Given the description of an element on the screen output the (x, y) to click on. 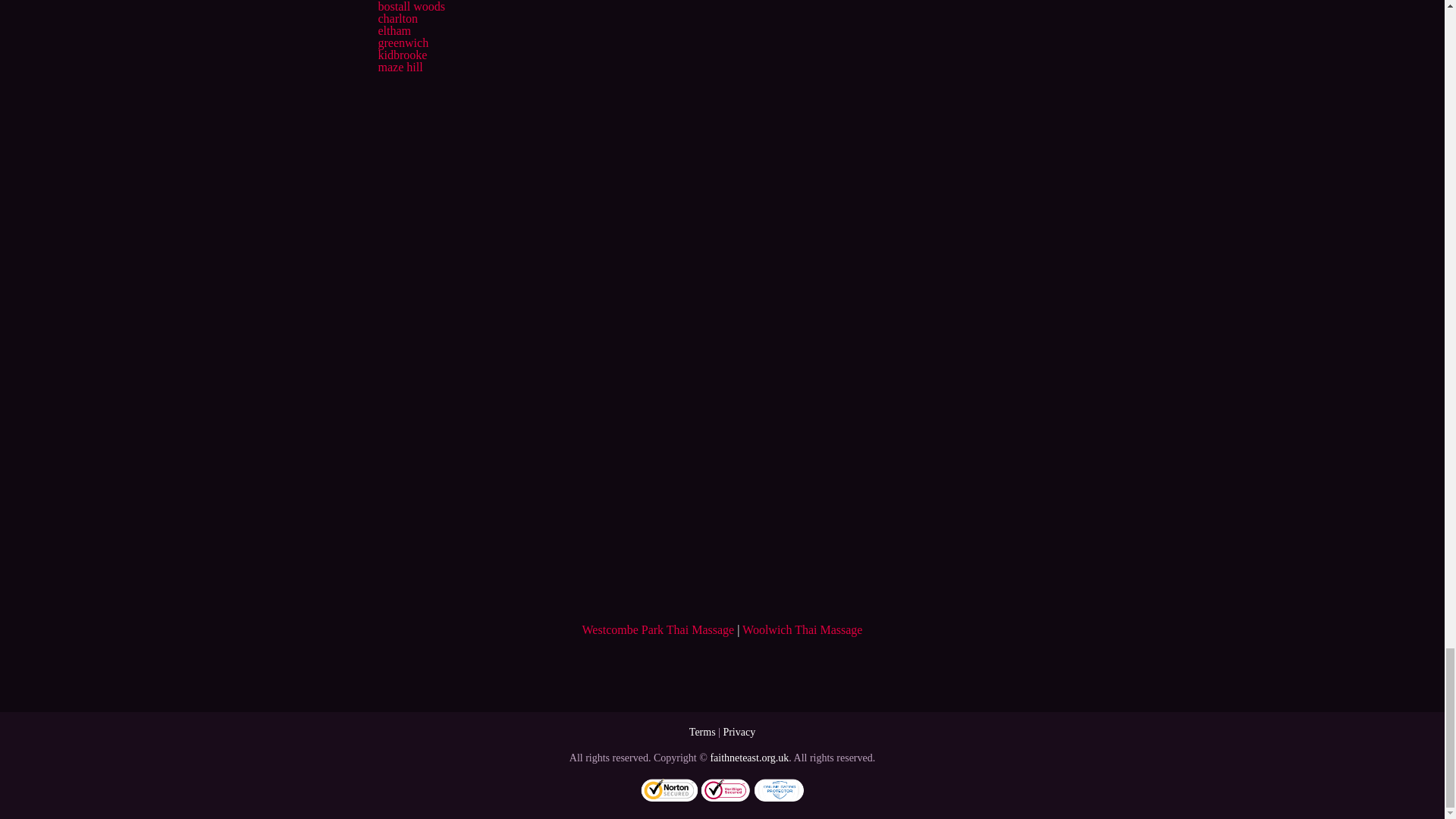
Woolwich Thai Massage (801, 629)
kidbrooke (401, 54)
maze hill (399, 66)
Westcombe Park Thai Massage (658, 629)
charlton (396, 18)
bostall heath (408, 0)
bostall woods (410, 6)
Privacy (738, 731)
eltham (393, 30)
Privacy (738, 731)
